Given the description of an element on the screen output the (x, y) to click on. 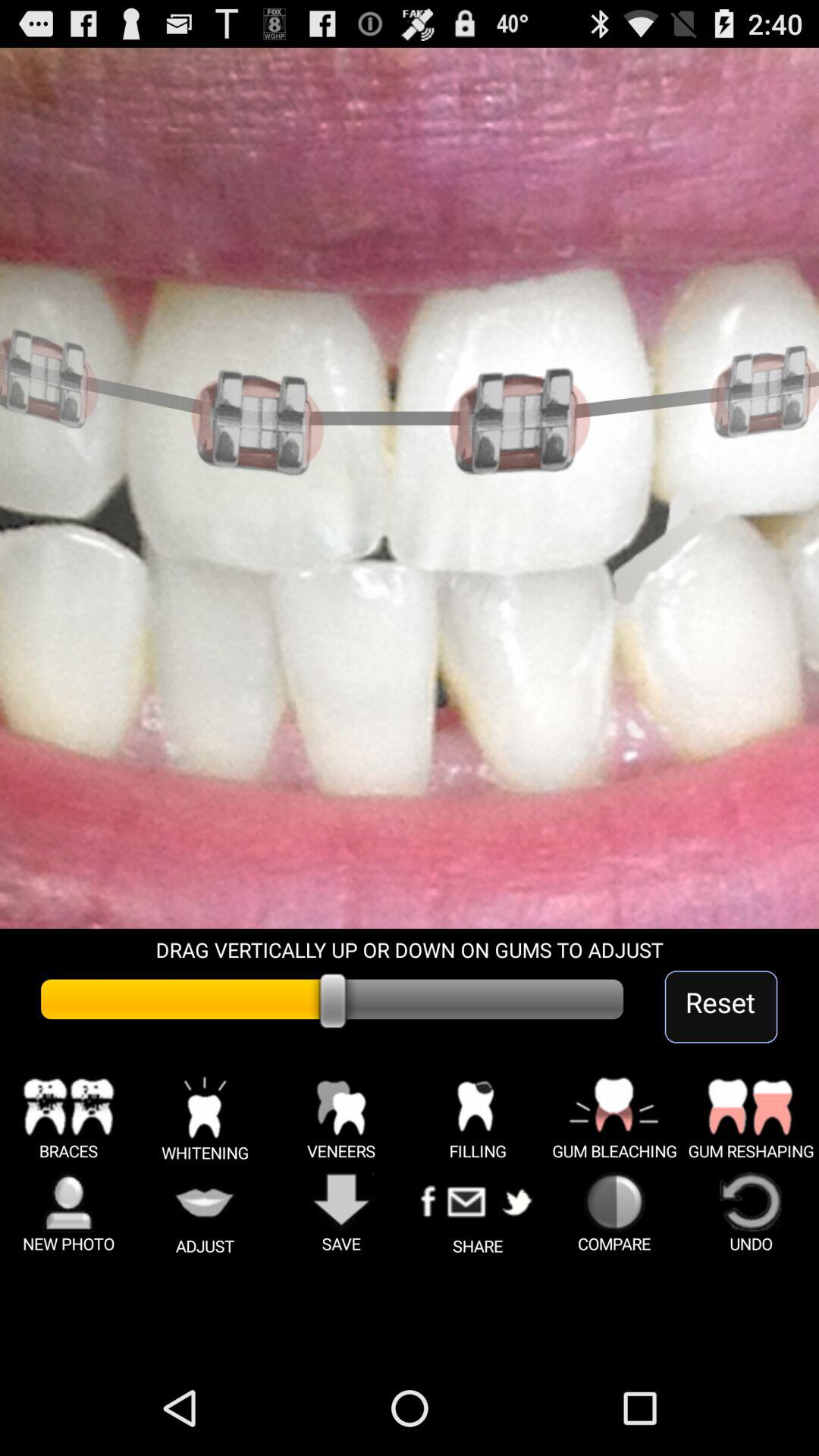
launch app to the right of the drag vertically up item (721, 1006)
